Given the description of an element on the screen output the (x, y) to click on. 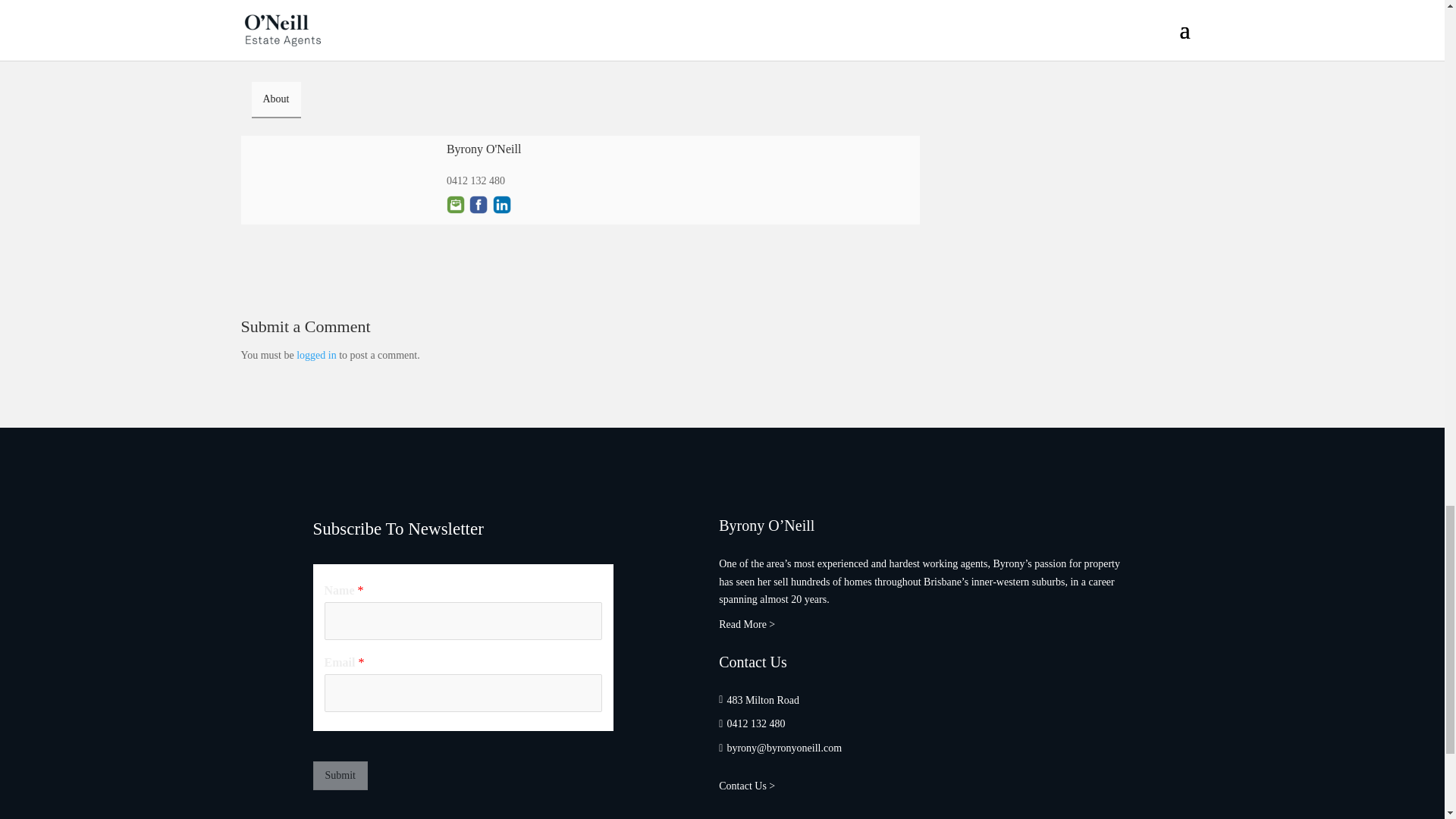
Follow Byrony O'Neill on LinkedIn (502, 204)
Contact Byrony O'Neill by Email (455, 204)
Follow Byrony O'Neill on Facebook (477, 204)
